Given the description of an element on the screen output the (x, y) to click on. 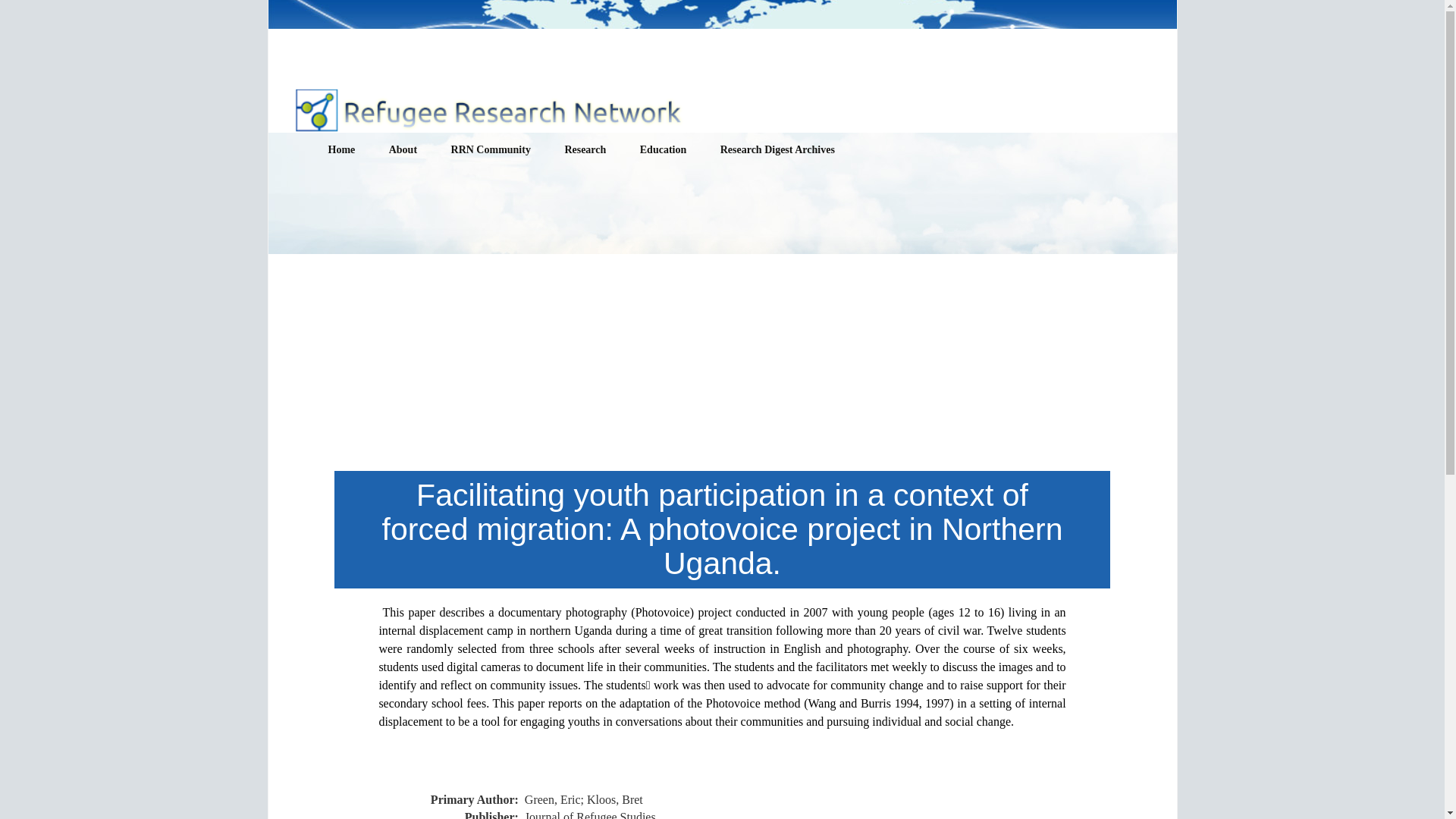
Education (662, 150)
RRN Community (490, 150)
Research Team (449, 183)
Certificate Programs (700, 183)
About (403, 150)
Refugee Research Network (485, 107)
Research Digest Archives (777, 150)
Institutional Repositories (624, 183)
RRN Networks (511, 183)
Home (341, 150)
Research (584, 150)
